Given the description of an element on the screen output the (x, y) to click on. 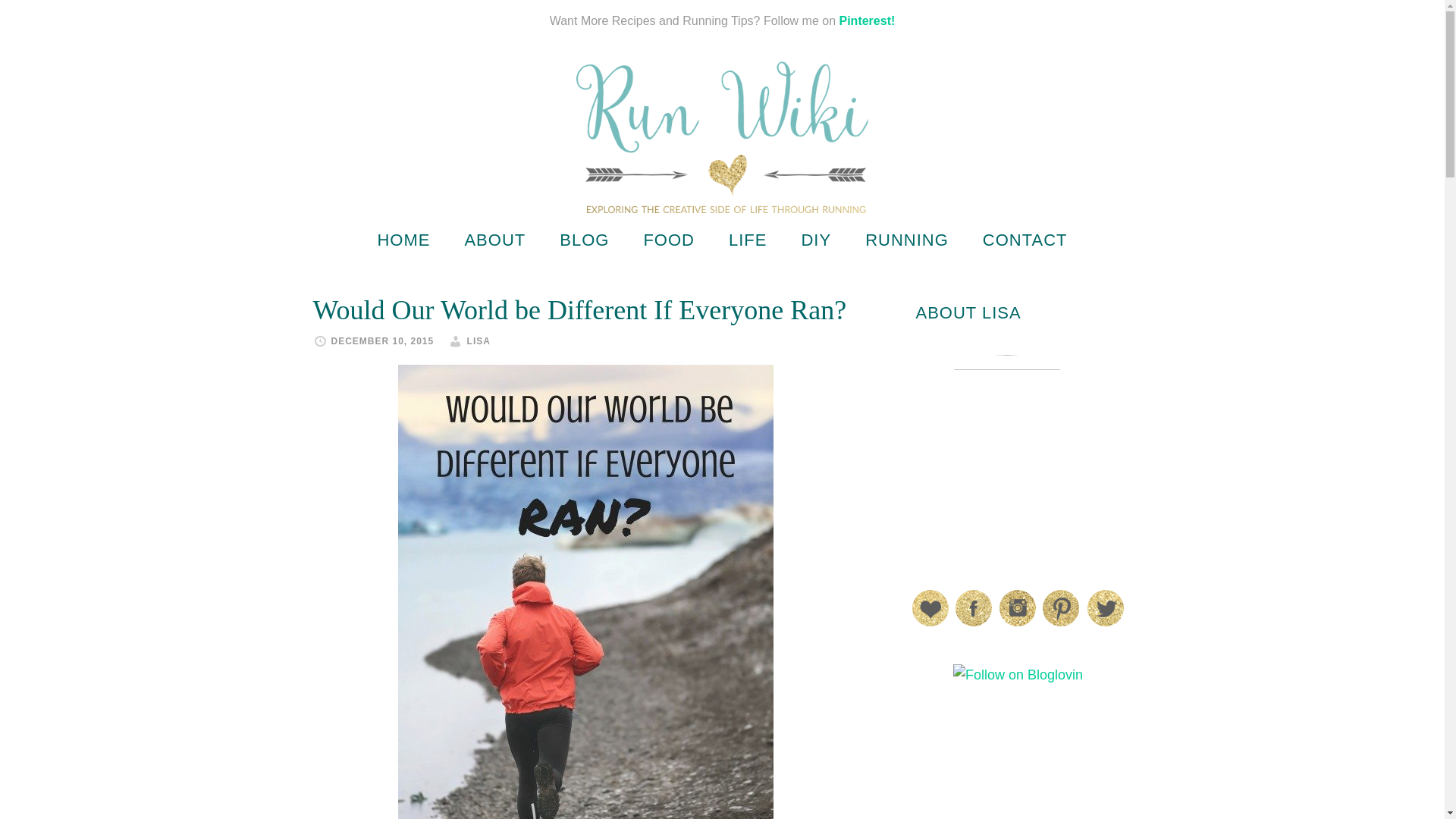
RUNNING (906, 240)
CONTACT (1025, 240)
FOOD (668, 240)
DIY (815, 240)
HOME (403, 240)
LIFE (747, 240)
Pinterest! (866, 20)
ABOUT (494, 240)
BLOG (584, 240)
LISA (478, 340)
